Given the description of an element on the screen output the (x, y) to click on. 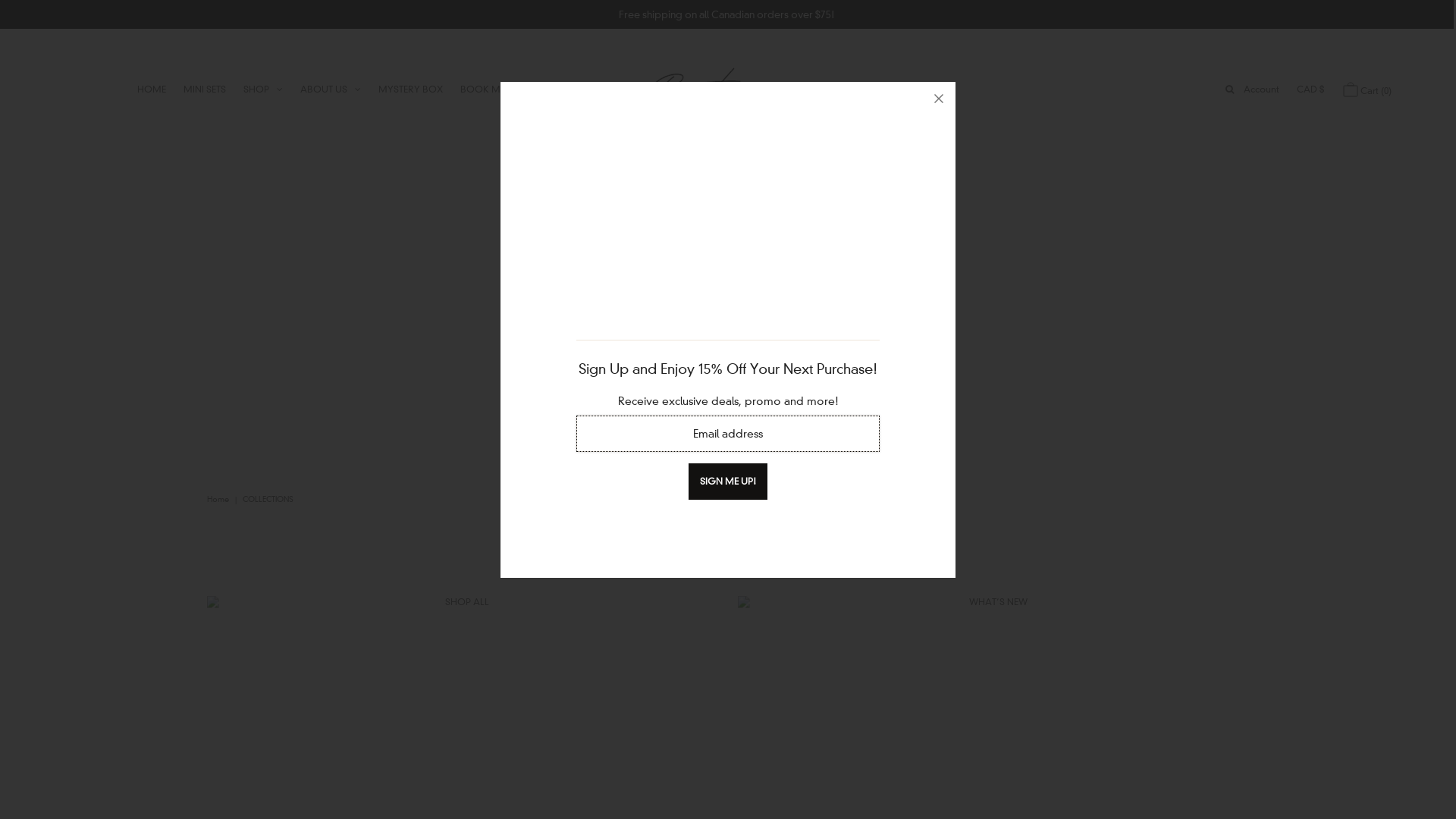
MYSTERY BOX Element type: text (410, 89)
CAD $ Element type: text (1310, 89)
Cart (0) Element type: text (1367, 89)
MINI SETS Element type: text (204, 89)
ABOUT US Element type: text (330, 89)
Home Element type: text (219, 499)
Close Element type: hover (938, 98)
SHOP Element type: text (262, 89)
Account Element type: text (1261, 89)
BOOK MUA Element type: text (486, 89)
HOME Element type: text (151, 89)
Sign me up! Element type: text (727, 481)
